Given the description of an element on the screen output the (x, y) to click on. 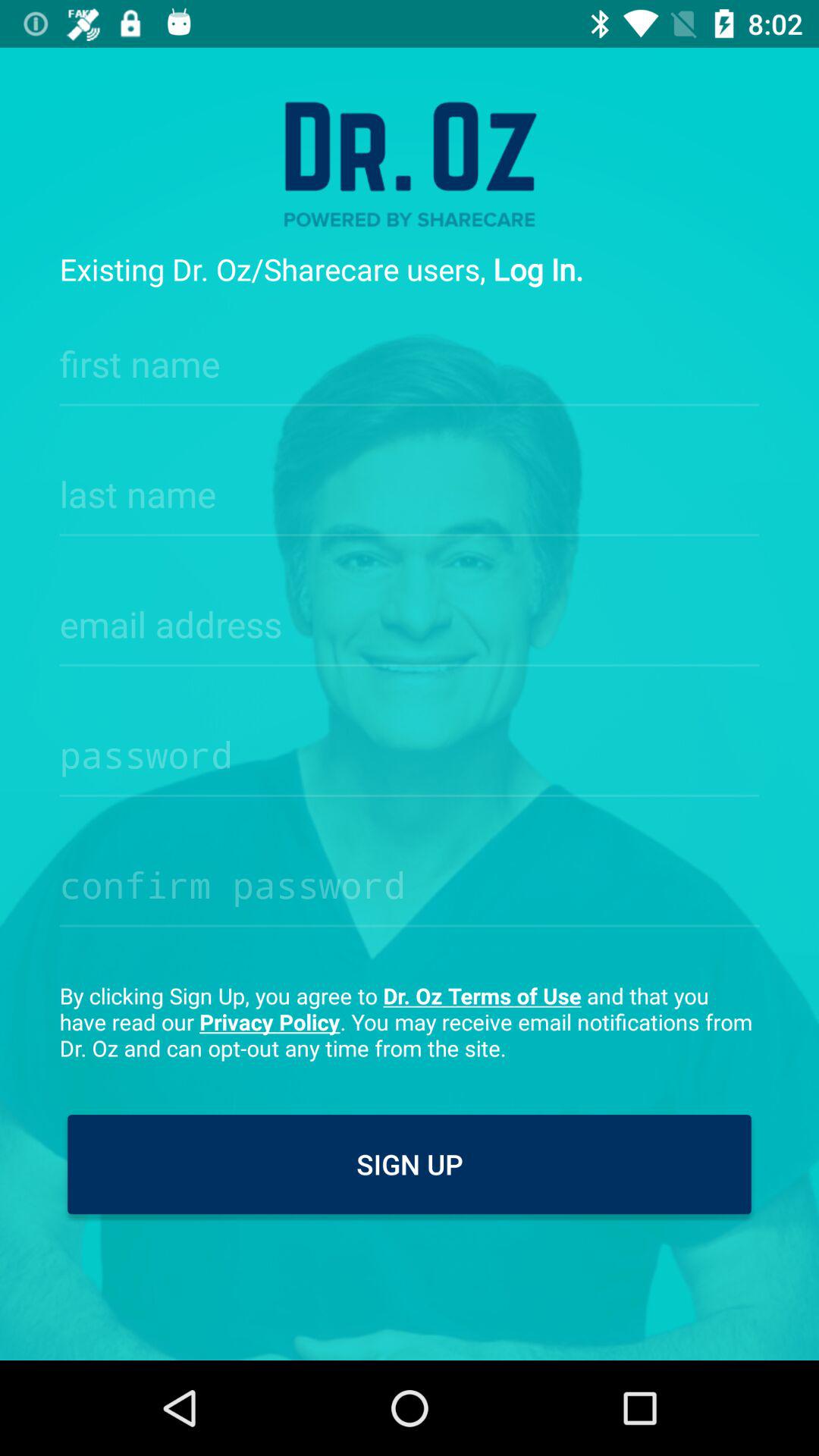
turn off by clicking sign (409, 1021)
